Given the description of an element on the screen output the (x, y) to click on. 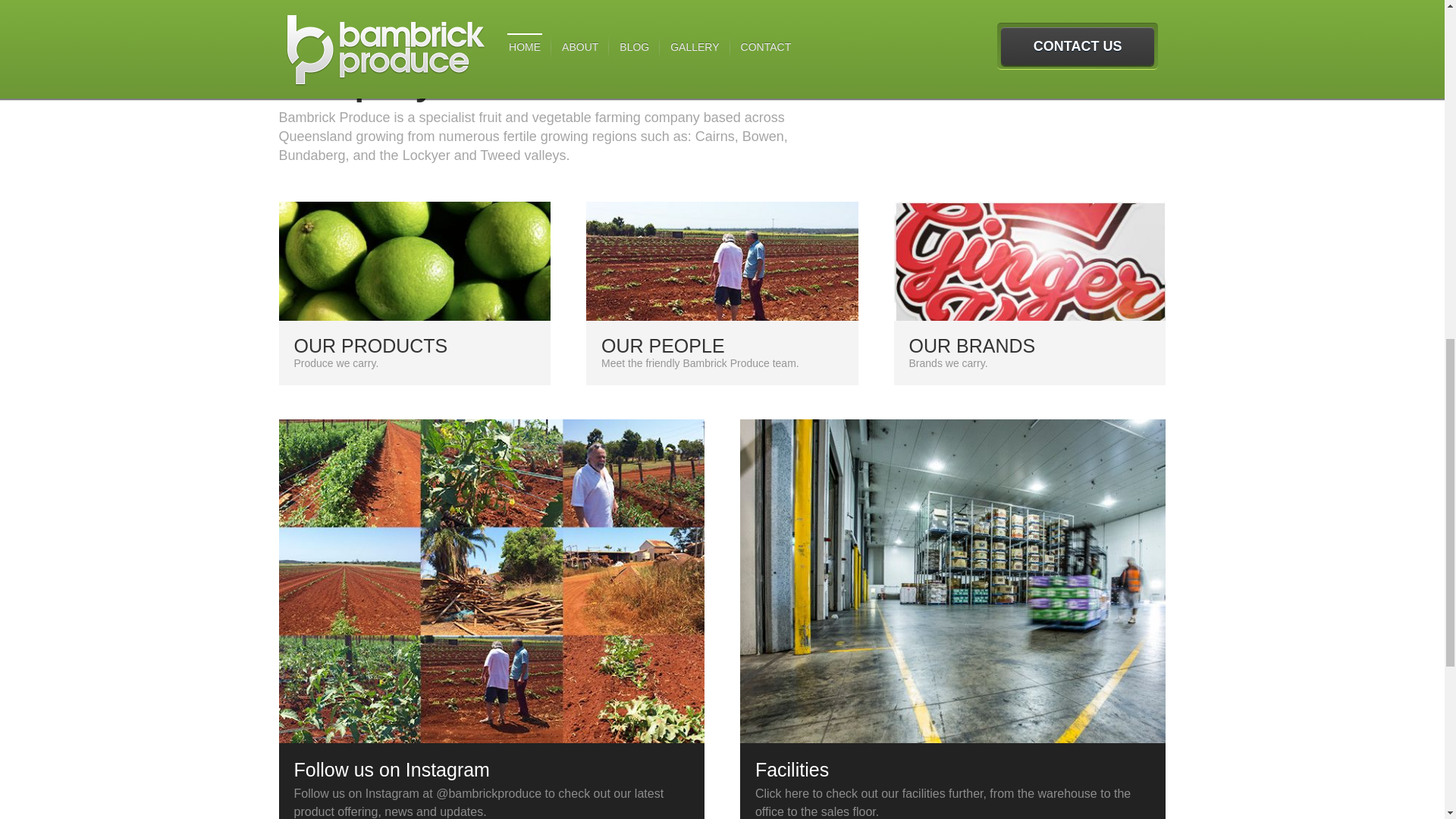
Follow us on Instagram (1029, 300)
Our Products (722, 300)
Our People (415, 300)
Learn More (1029, 300)
